Given the description of an element on the screen output the (x, y) to click on. 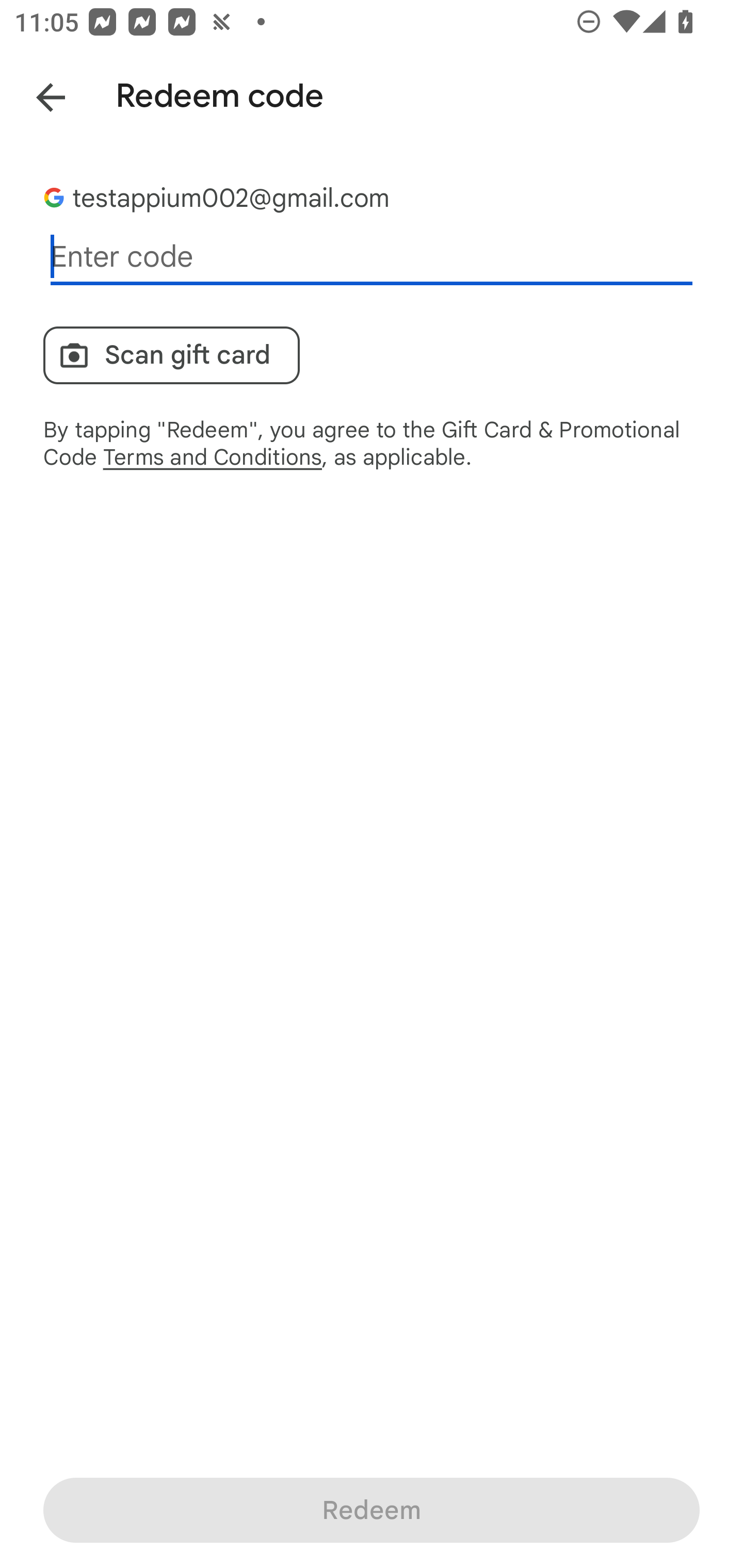
Back (36, 94)
Enter code (371, 256)
Scan gift card (171, 355)
